Given the description of an element on the screen output the (x, y) to click on. 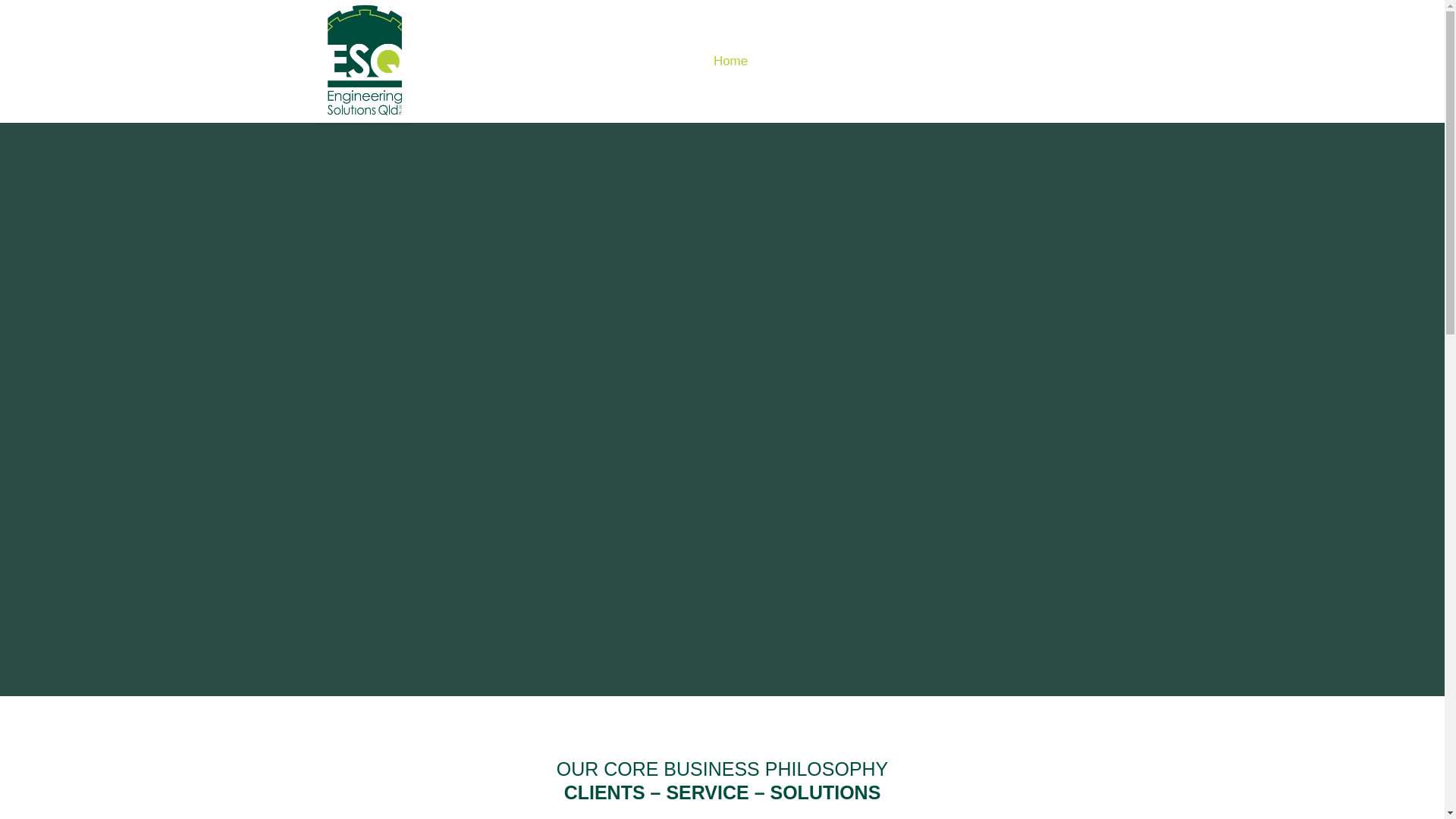
Projects Element type: text (876, 89)
Contact Us Element type: text (1099, 89)
Services Element type: text (800, 89)
Meet Us Element type: text (950, 89)
Home Element type: text (730, 89)
Insights Element type: text (1025, 89)
